Given the description of an element on the screen output the (x, y) to click on. 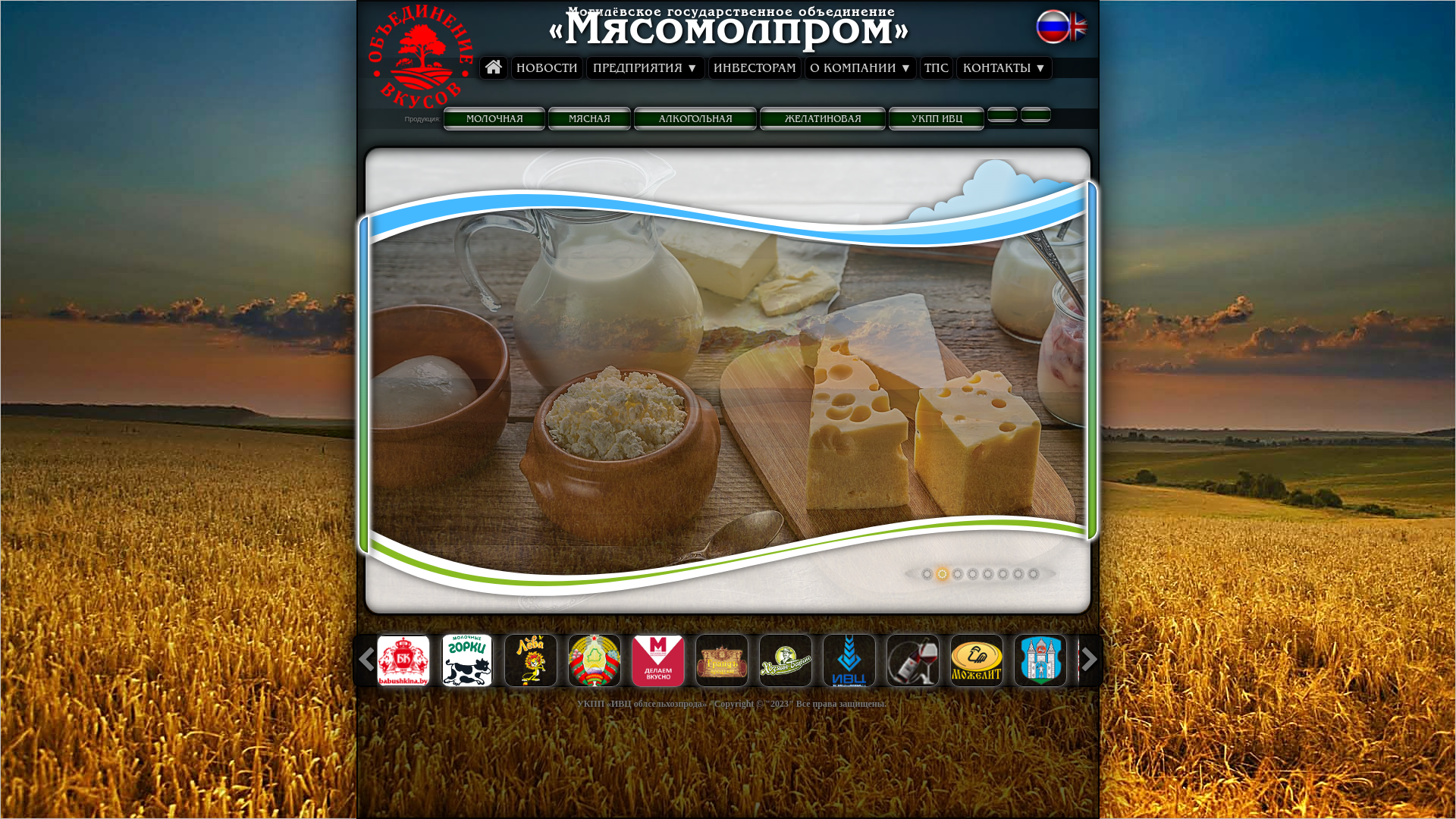
on Element type: text (1076, 30)
on Element type: text (1054, 28)
English language Element type: hover (1076, 30)
